Given the description of an element on the screen output the (x, y) to click on. 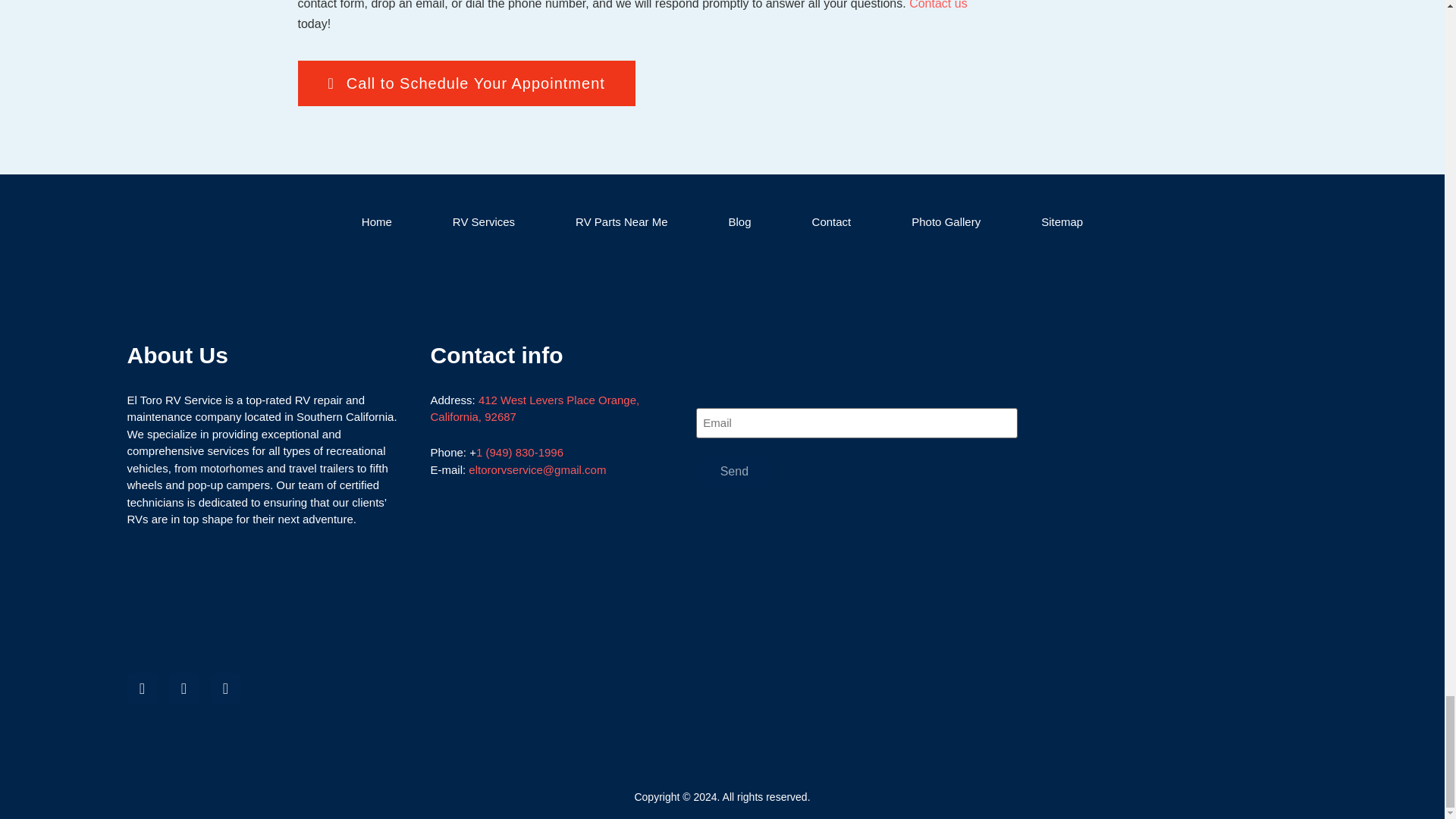
Send (733, 471)
